Given the description of an element on the screen output the (x, y) to click on. 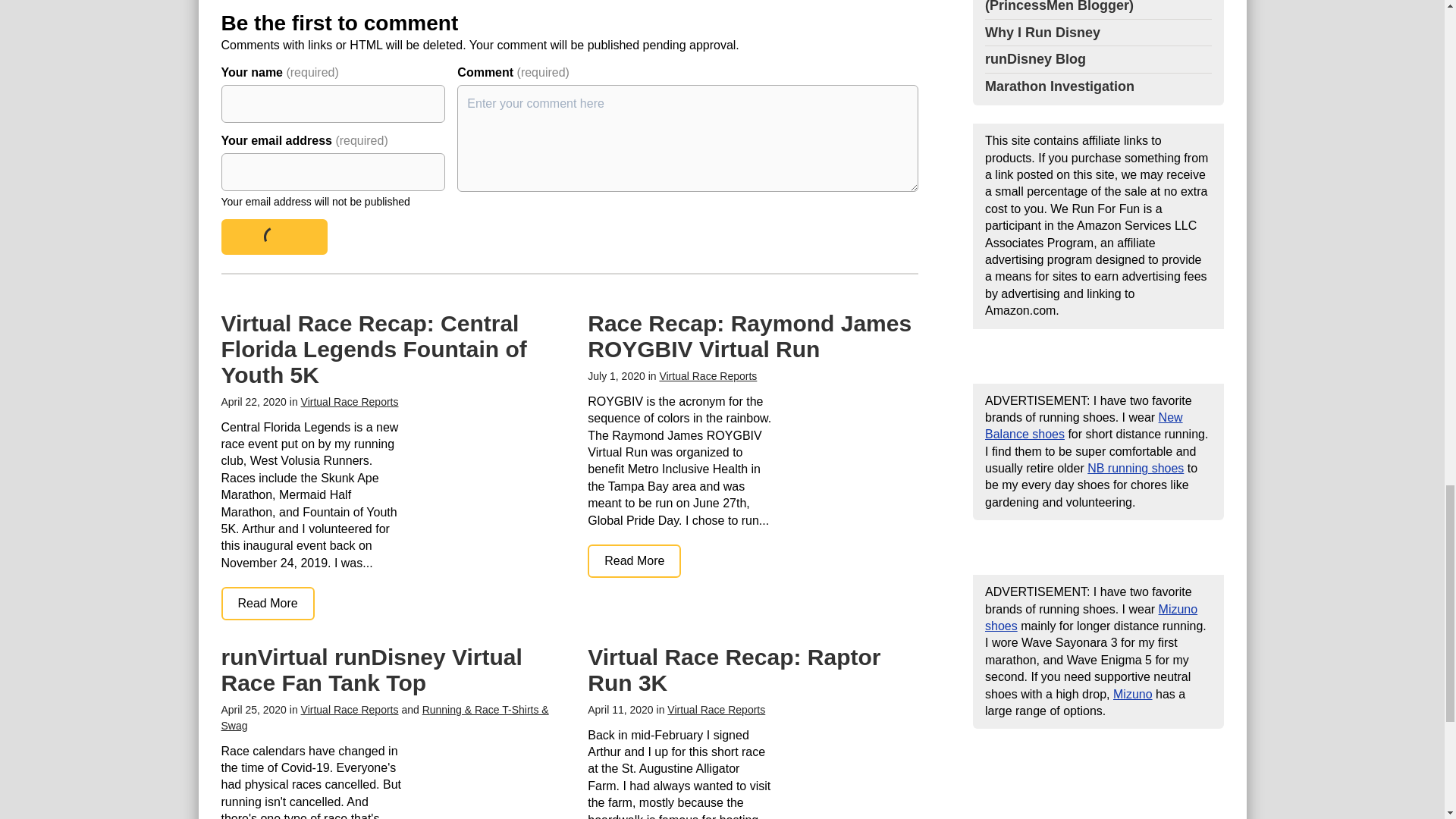
Virtual Race Reports (708, 376)
Race Recap: Raymond James ROYGBIV Virtual Run (749, 336)
Virtual Race Reports (349, 401)
Virtual Race Reports (715, 709)
Virtual Race Recap: Raptor Run 3K (734, 669)
Race Recap: Raymond James ROYGBIV Virtual Run (634, 561)
Read More (634, 561)
runVirtual runDisney Virtual Race Fan Tank Top (371, 669)
Read More (267, 603)
Virtual Race Reports (349, 709)
